Given the description of an element on the screen output the (x, y) to click on. 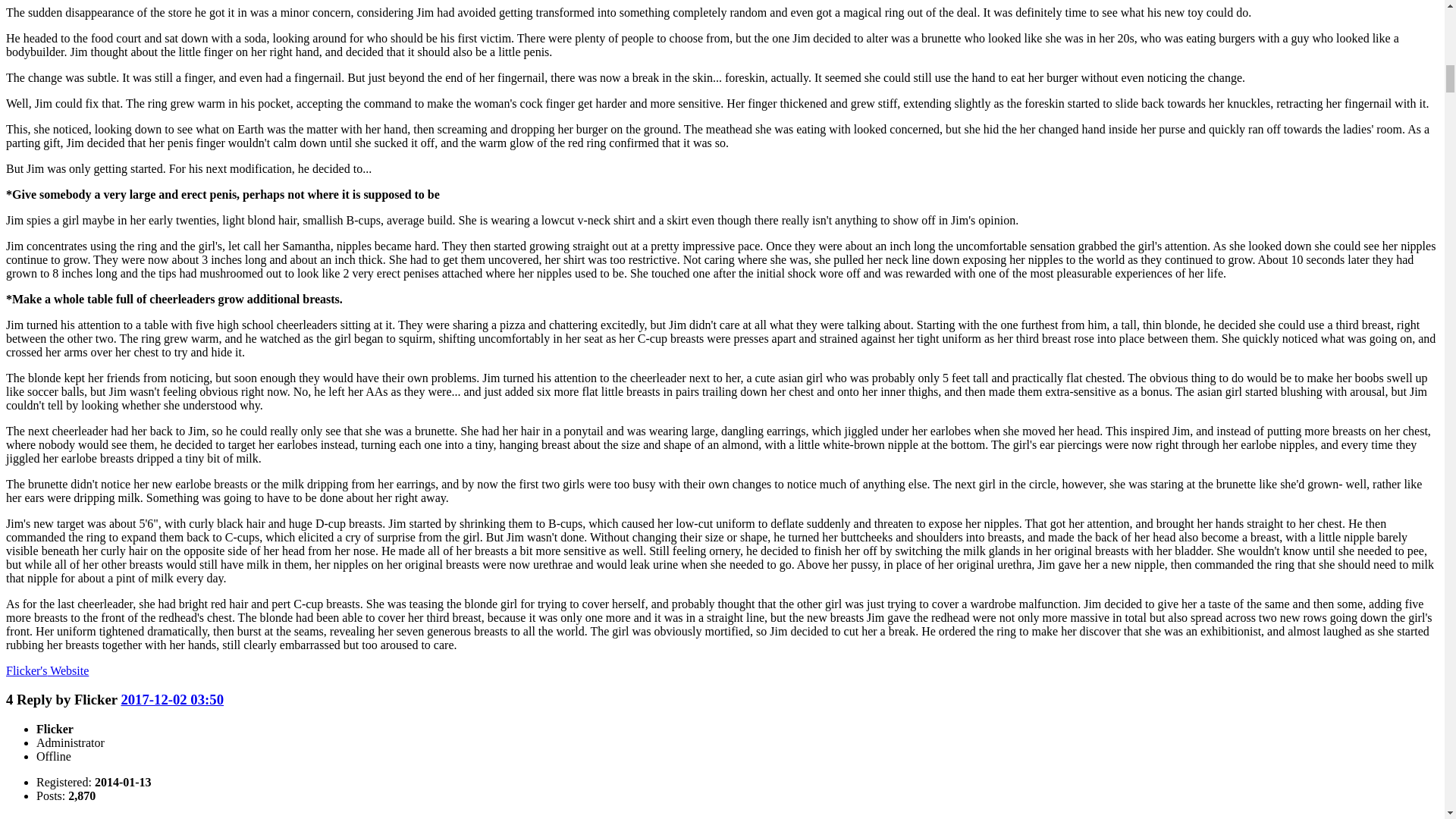
Flicker's Website (46, 670)
2017-12-02 03:50 (172, 699)
Permanent link to this post (172, 699)
